Given the description of an element on the screen output the (x, y) to click on. 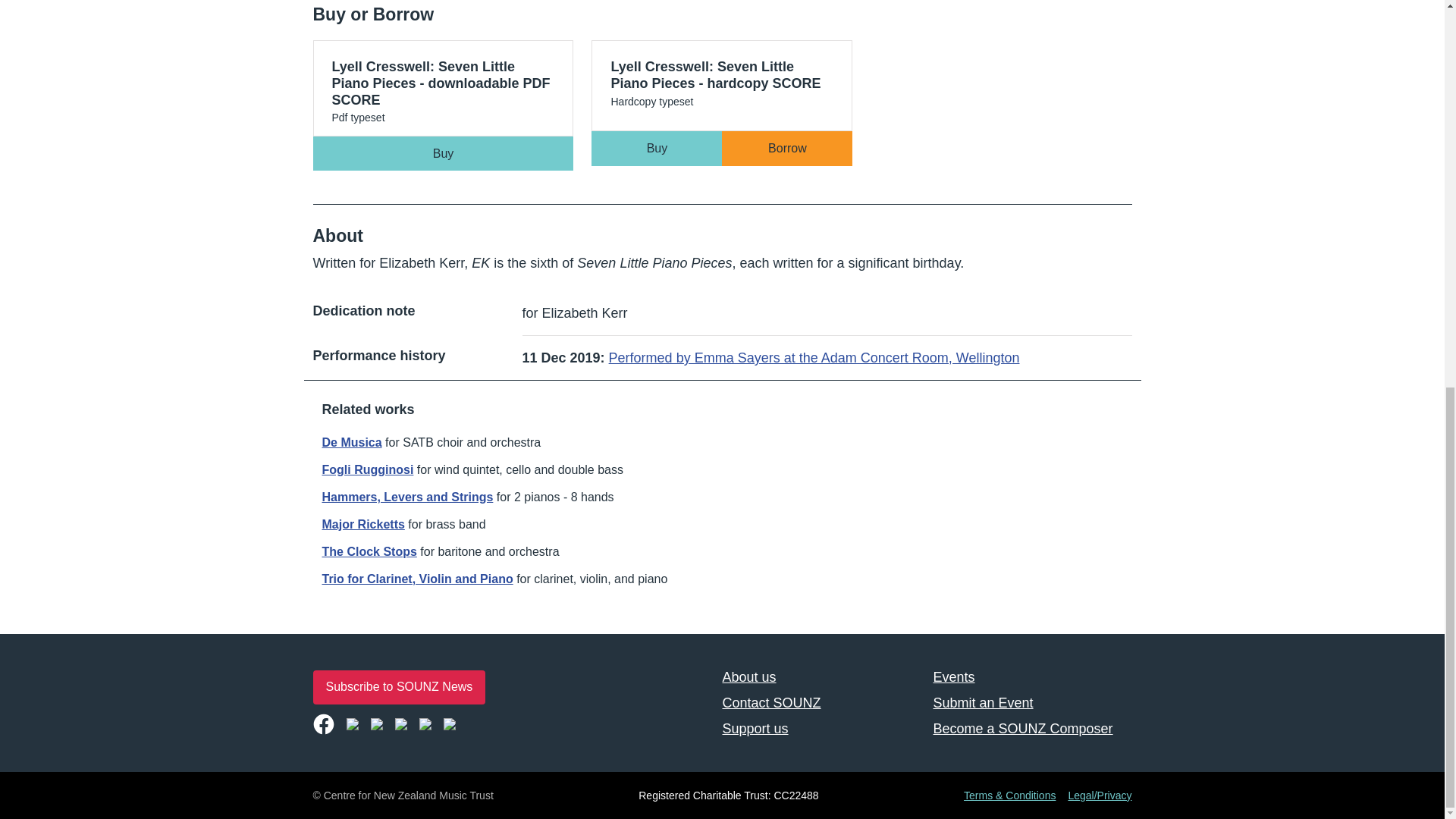
Major Ricketts (362, 523)
Trio for Clarinet, Violin and Piano (416, 578)
Fogli Rugginosi (367, 469)
De Musica (351, 441)
The Clock Stops (368, 551)
Hammers, Levers and Strings (407, 496)
Buy (656, 148)
Buy (443, 153)
